Given the description of an element on the screen output the (x, y) to click on. 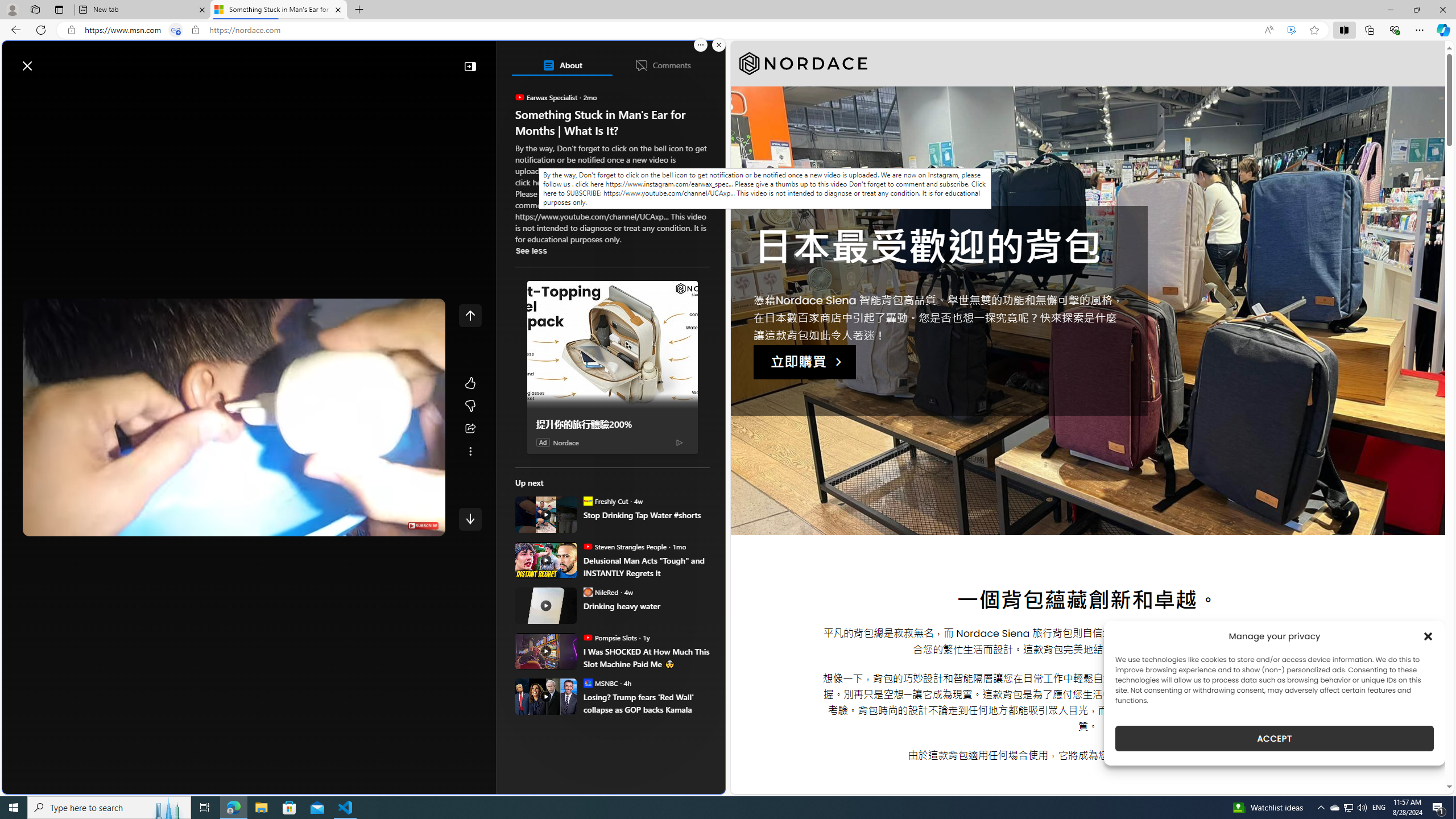
Compact and Stylish (616, 219)
More like thisFewer like this (469, 394)
Comments (662, 64)
Tabs in split screen (175, 29)
Nordace (566, 442)
About (561, 64)
Open navigation menu (16, 92)
Refresh (40, 29)
Ad Choice (678, 441)
Personalize (679, 92)
See less (531, 250)
Steven Strangles People Steven Strangles People (624, 546)
